Given the description of an element on the screen output the (x, y) to click on. 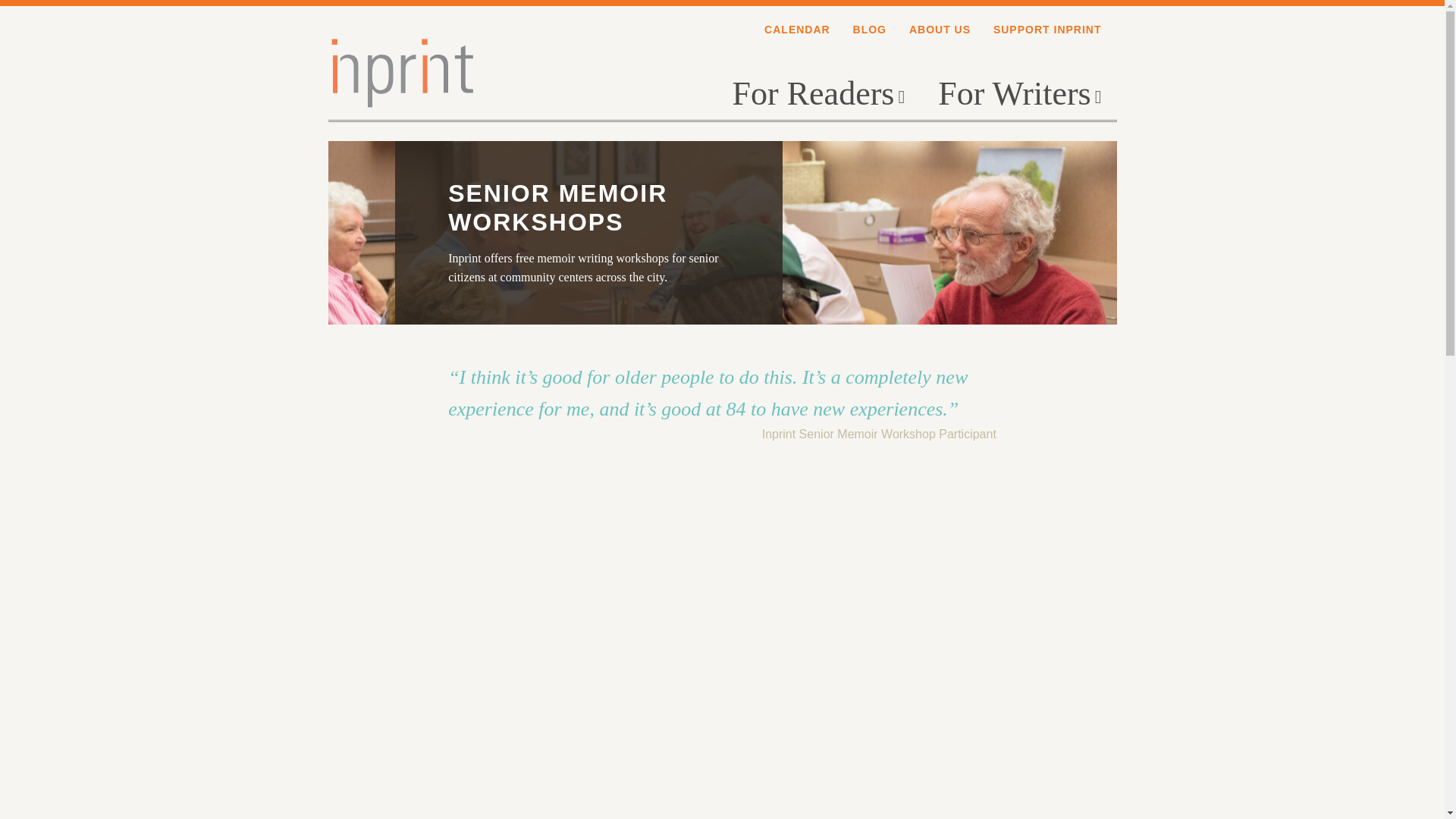
SUPPORT INPRINT (1047, 29)
BLOG (869, 29)
For Readers (818, 93)
ABOUT US (939, 29)
For Writers (1019, 93)
CALENDAR (796, 29)
